Given the description of an element on the screen output the (x, y) to click on. 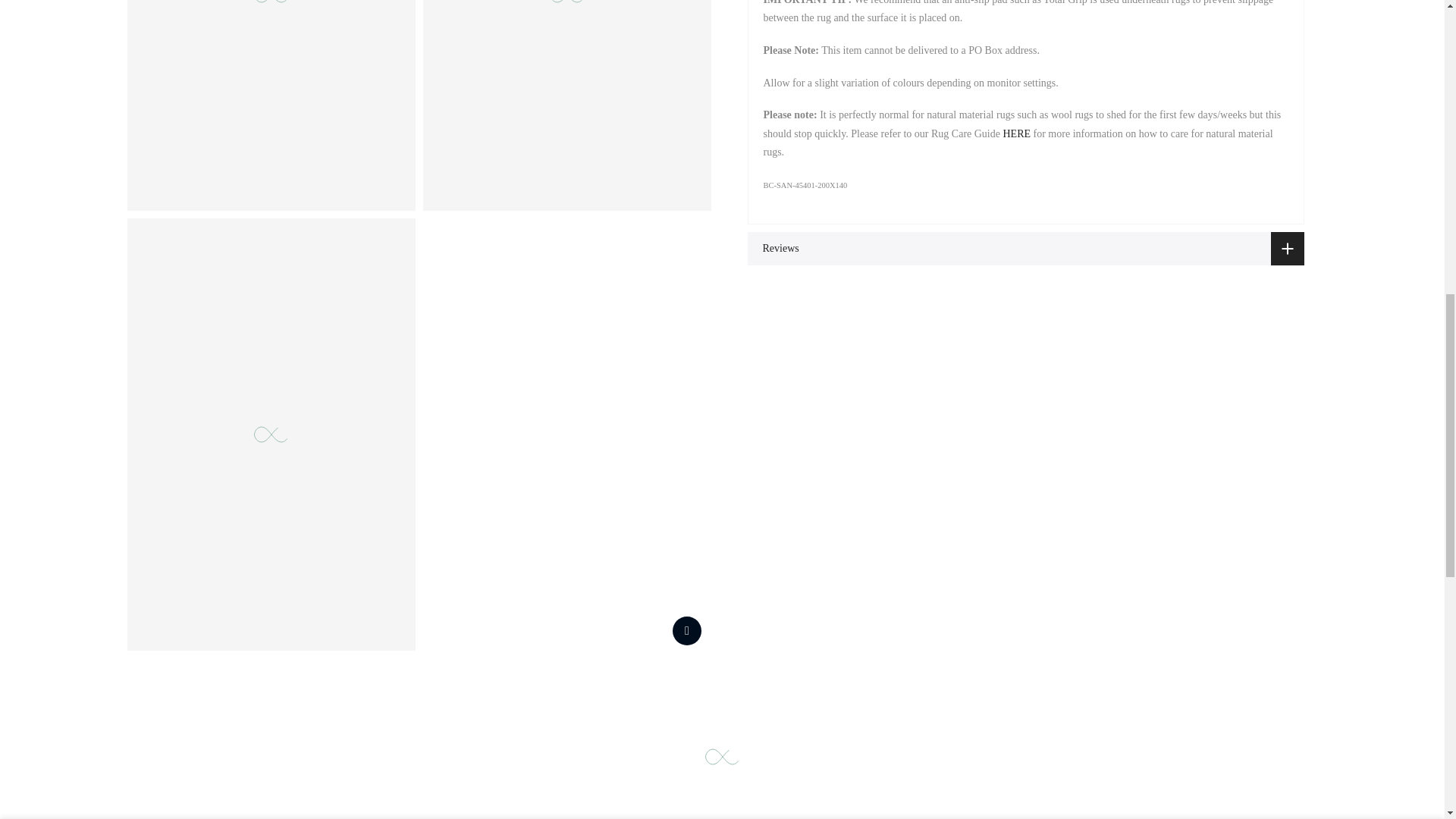
Reviews (1026, 248)
1 (1153, 35)
HERE (1016, 133)
